Given the description of an element on the screen output the (x, y) to click on. 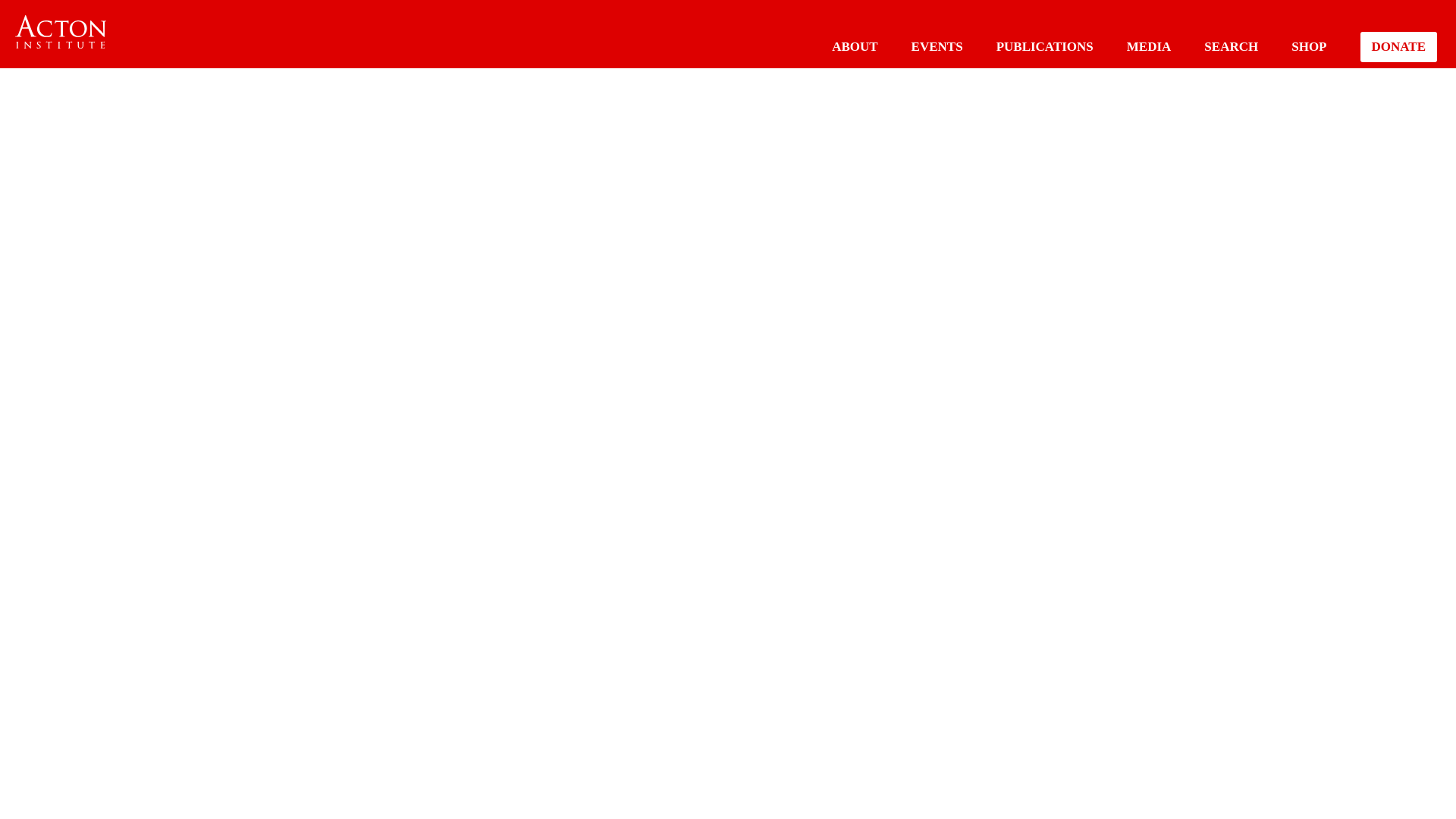
PUBLICATIONS (1044, 46)
SHOP (1308, 46)
MEDIA (1149, 46)
SEARCH (1230, 46)
The Acton Institute (60, 31)
DONATE (1398, 46)
EVENTS (936, 46)
ABOUT (854, 46)
